Given the description of an element on the screen output the (x, y) to click on. 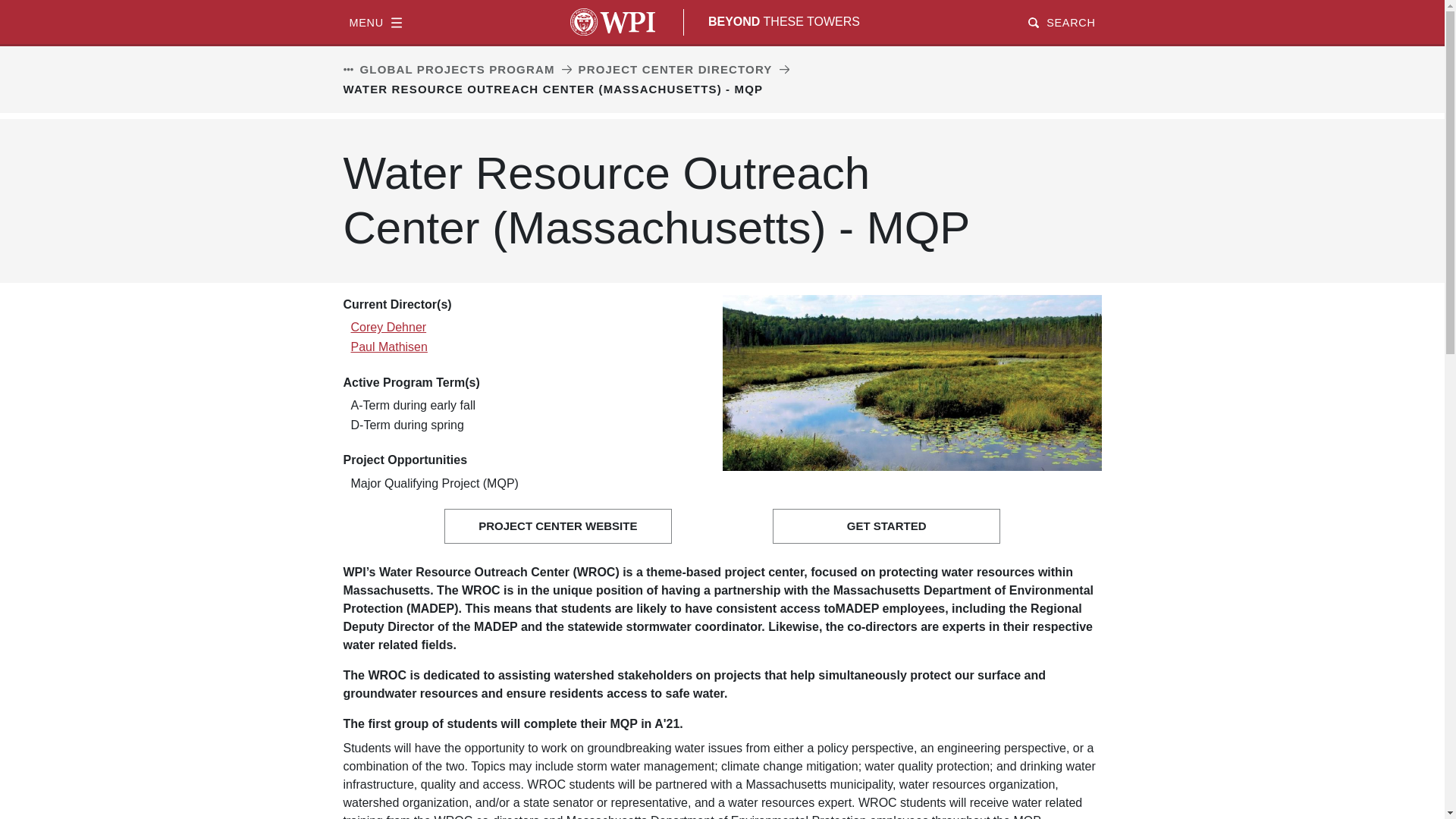
WPI Home (612, 22)
MENU (374, 21)
BEYOND THESE TOWERS (783, 21)
SEARCH (1061, 21)
Skip to main content (721, 1)
